Given the description of an element on the screen output the (x, y) to click on. 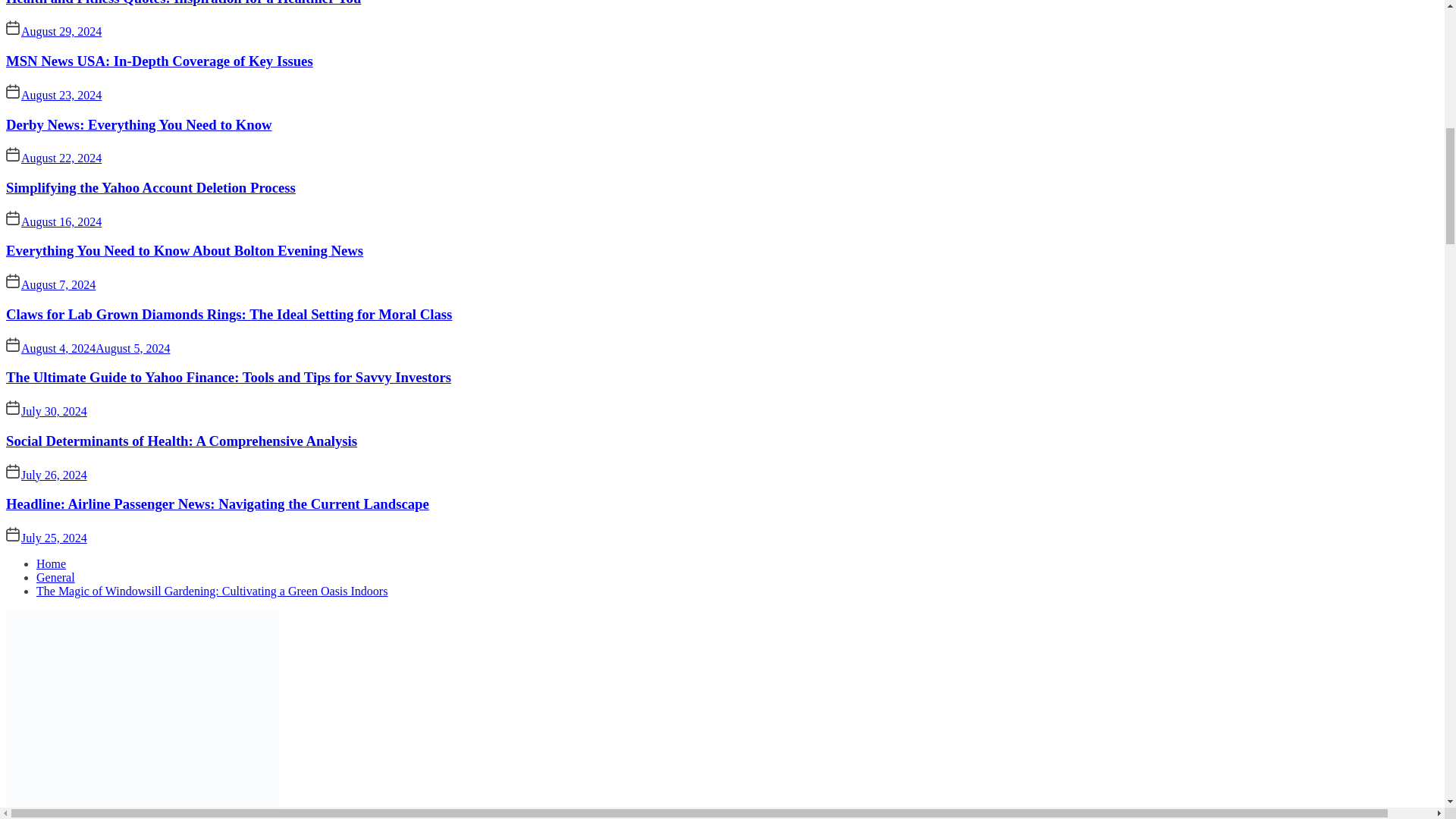
Simplifying the Yahoo Account Deletion Process (150, 187)
Social Determinants of Health: A Comprehensive Analysis (180, 440)
Health and Fitness Quotes: Inspiration for a Healthier You (183, 2)
MSN News USA: In-Depth Coverage of Key Issues (159, 60)
Derby News: Everything You Need to Know (138, 124)
Everything You Need to Know About Bolton Evening News (183, 250)
